Given the description of an element on the screen output the (x, y) to click on. 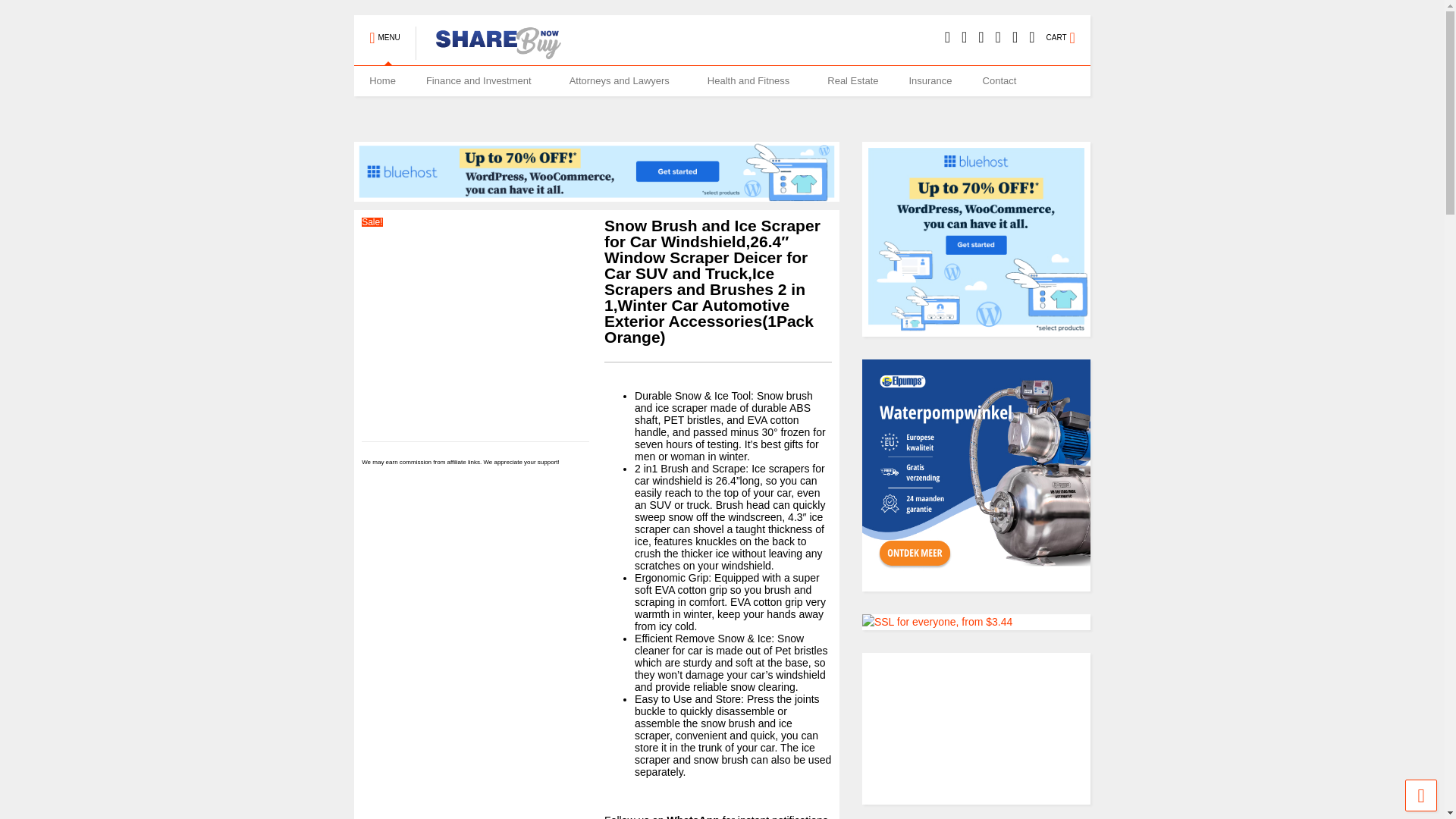
Home (381, 81)
YouTube video player (975, 728)
Finance and Investment (482, 81)
MENU (383, 30)
CART (1068, 30)
Sharebuynow.com  (490, 52)
Attorneys and Lawyers (623, 81)
